Given the description of an element on the screen output the (x, y) to click on. 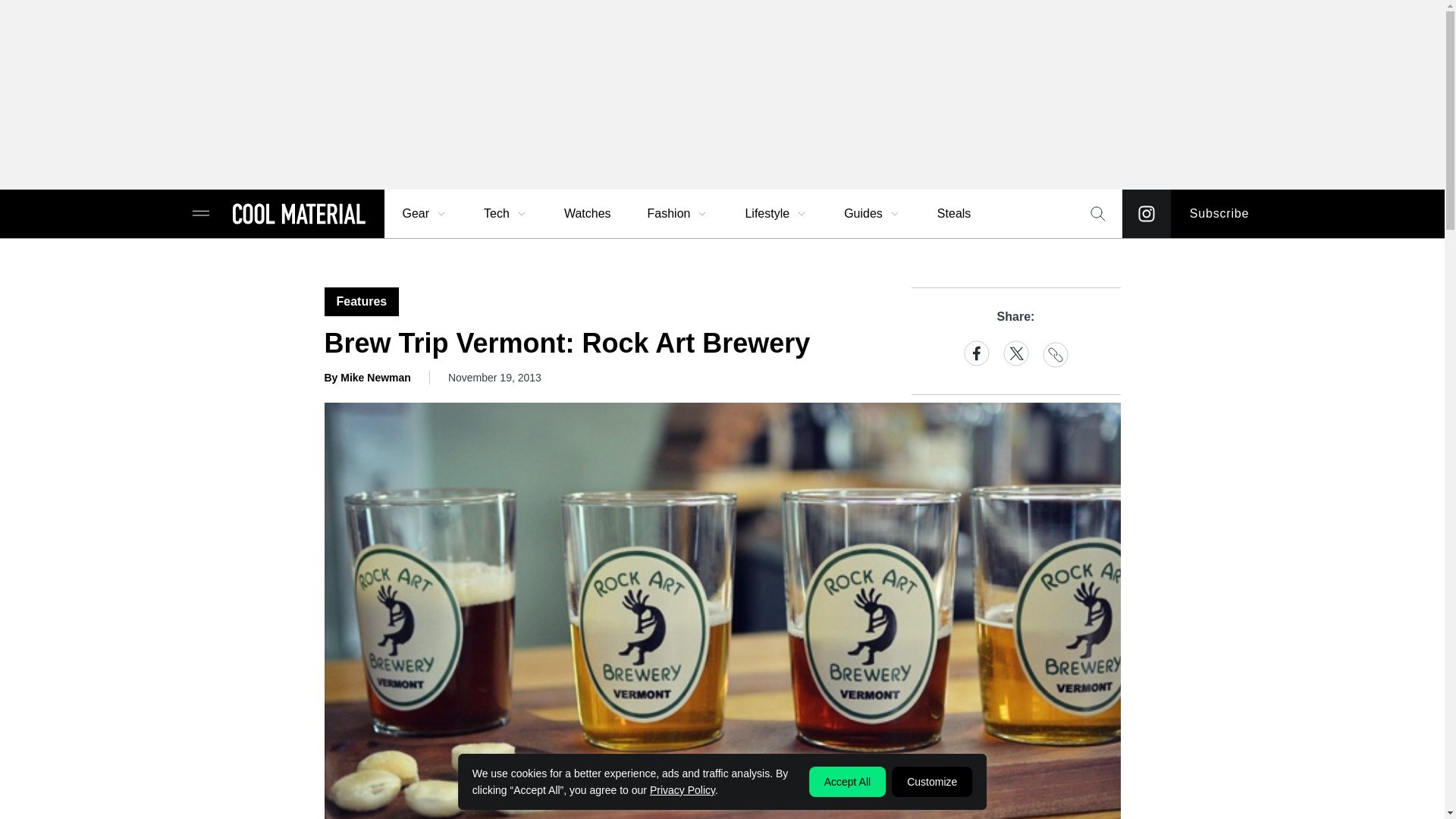
Lifestyle (775, 213)
Customize (931, 781)
Fashion (677, 213)
Privacy Policy (681, 789)
Watches (587, 213)
Accept All (847, 781)
Gear (424, 213)
Tech (505, 213)
